Given the description of an element on the screen output the (x, y) to click on. 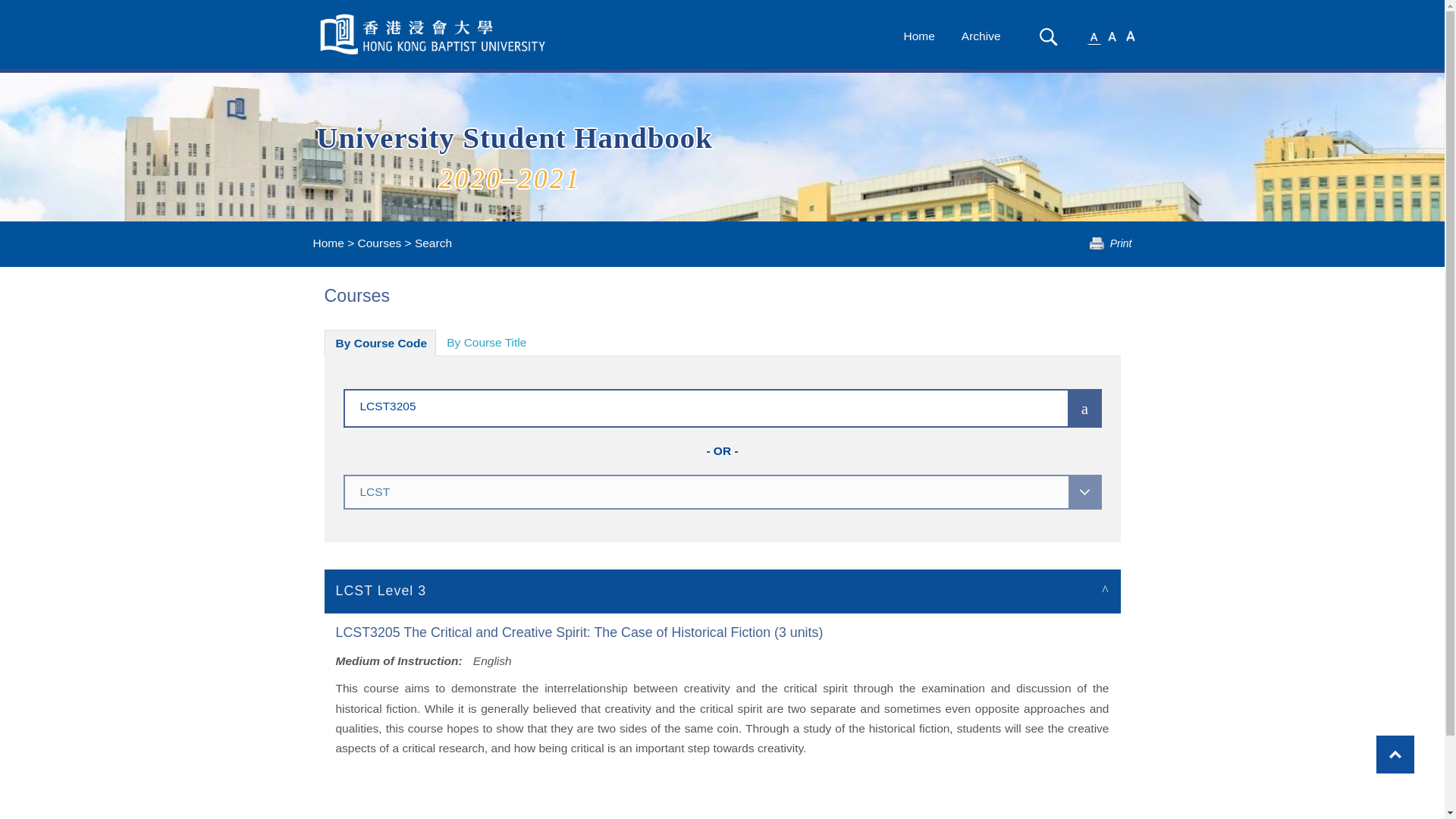
Scroll To Top (1394, 754)
By Course Title (486, 342)
Search (1048, 36)
Search (1048, 36)
Home (328, 242)
Scroll To Top (1394, 754)
By Course Code (381, 343)
HKBU Student Handbook (434, 34)
LCST3205 (683, 404)
selected (434, 34)
